Given the description of an element on the screen output the (x, y) to click on. 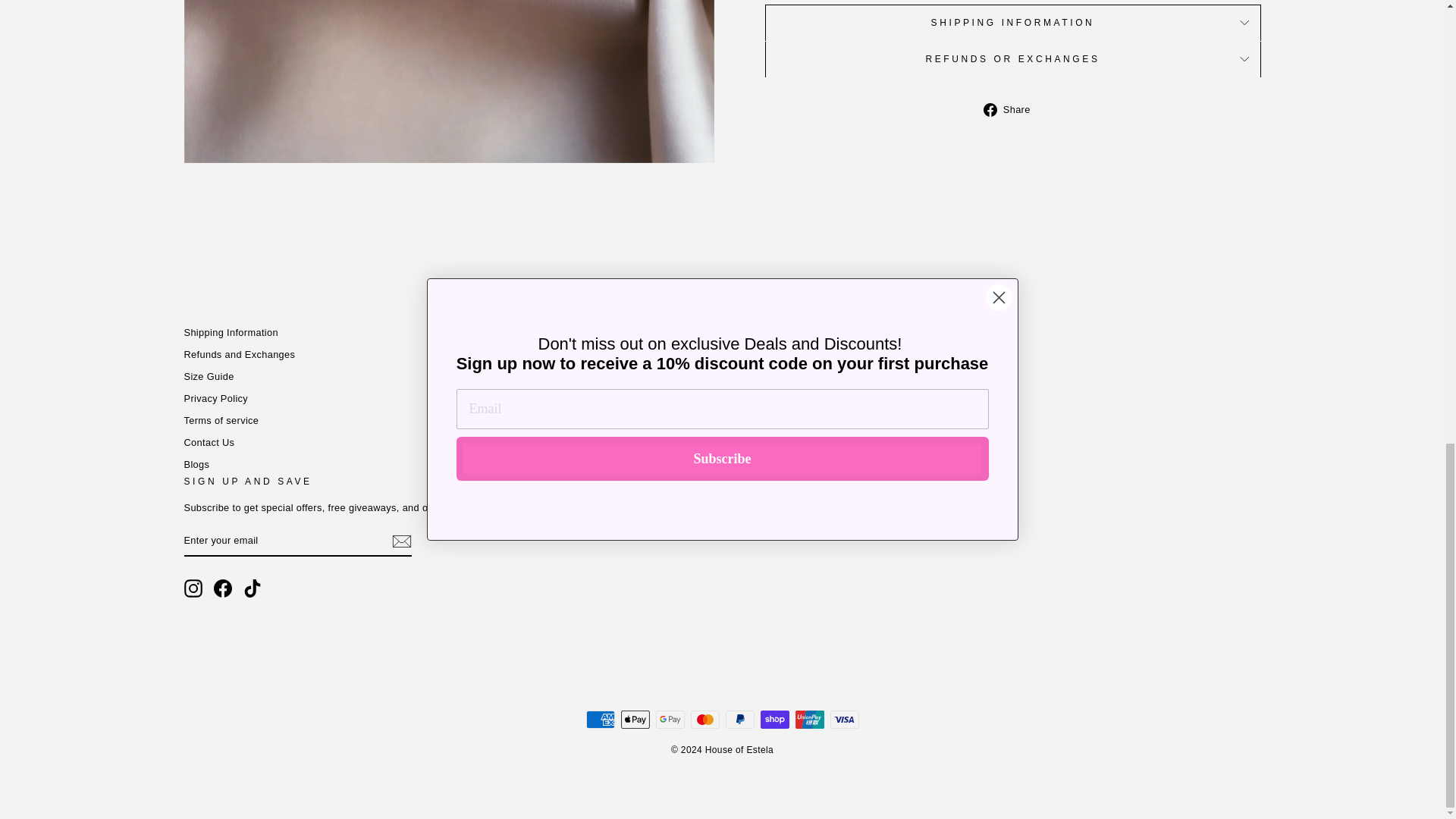
House of Estela on Facebook (222, 588)
icon-email (400, 541)
House of Estela on Instagram (192, 588)
House of Estela on TikTok (251, 588)
Share on Facebook (1012, 108)
instagram (192, 588)
